Given the description of an element on the screen output the (x, y) to click on. 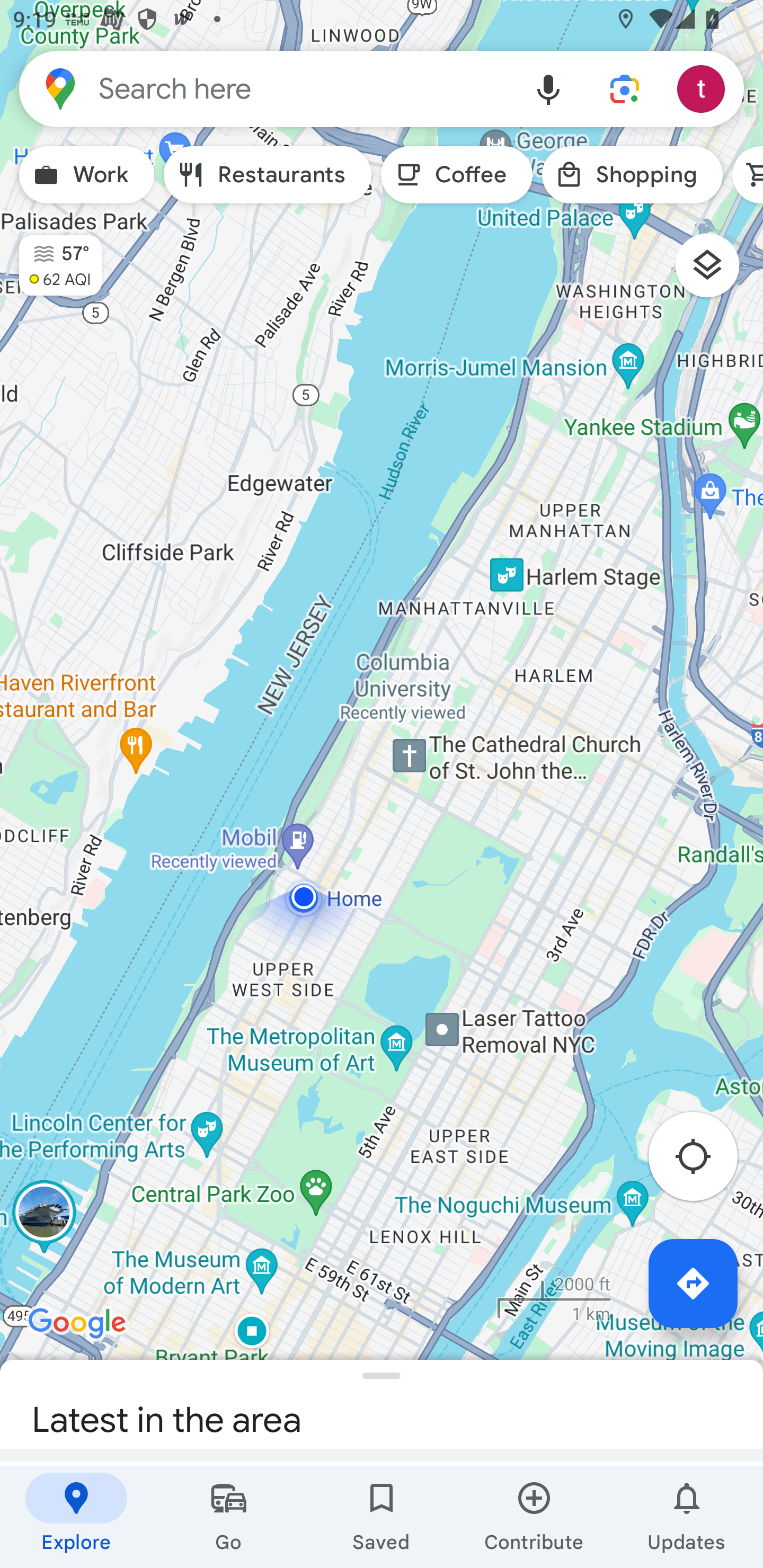
Search here (264, 88)
Voice search (548, 88)
Lens in Maps (624, 88)
Work (86, 174)
Restaurants Search for Restaurants (267, 174)
Coffee Search for Coffee (456, 174)
Shopping Search for Shopping (631, 174)
Mist, 57°, Moderate, 62 AQI 57° 62 AQI (50, 257)
Layers (716, 271)
Re-center map to your location (702, 1161)
Directions (692, 1283)
Go (228, 1517)
Saved (381, 1517)
Contribute (533, 1517)
Updates (686, 1517)
